Given the description of an element on the screen output the (x, y) to click on. 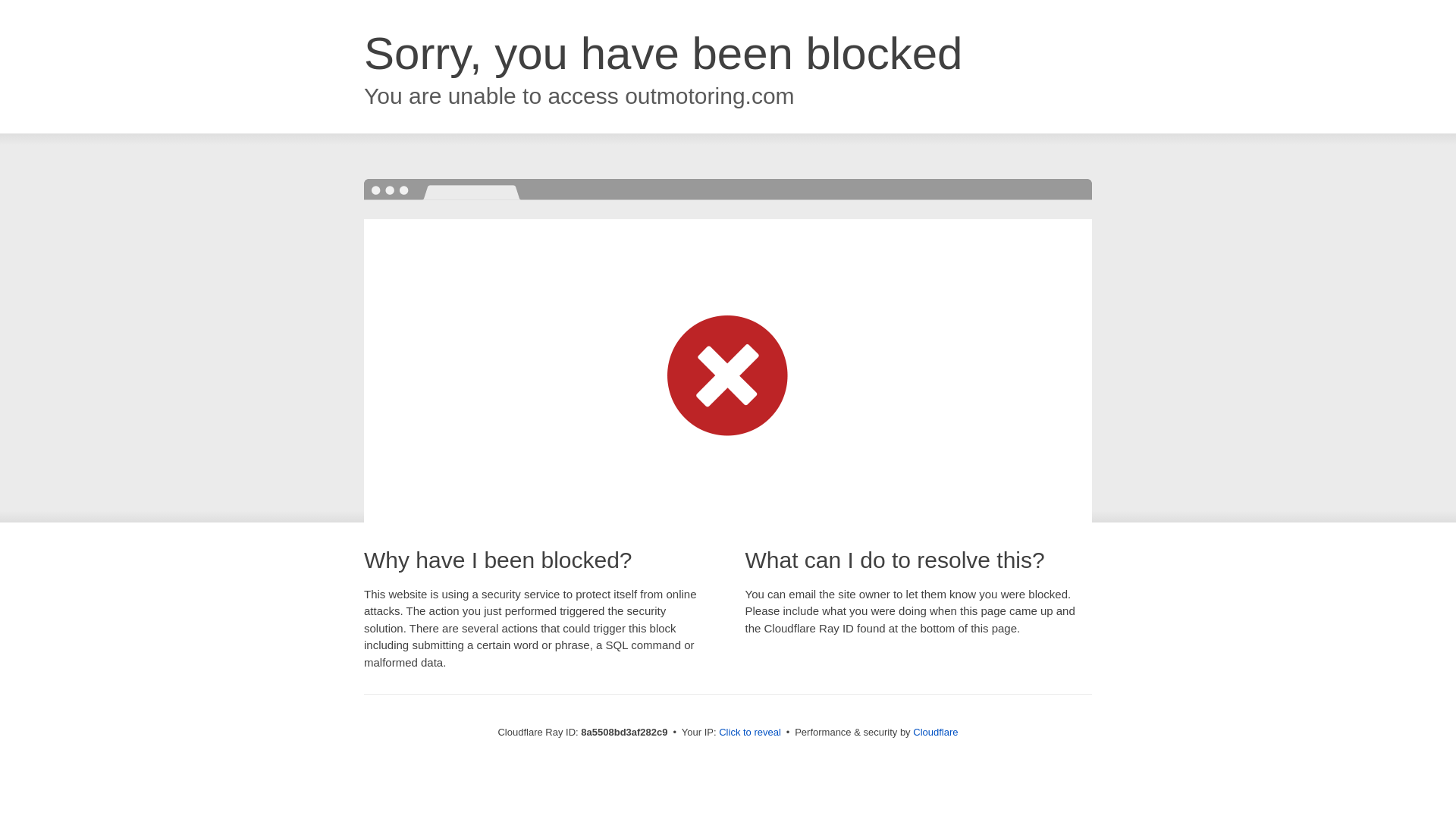
Click to reveal (749, 732)
Cloudflare (935, 731)
